Given the description of an element on the screen output the (x, y) to click on. 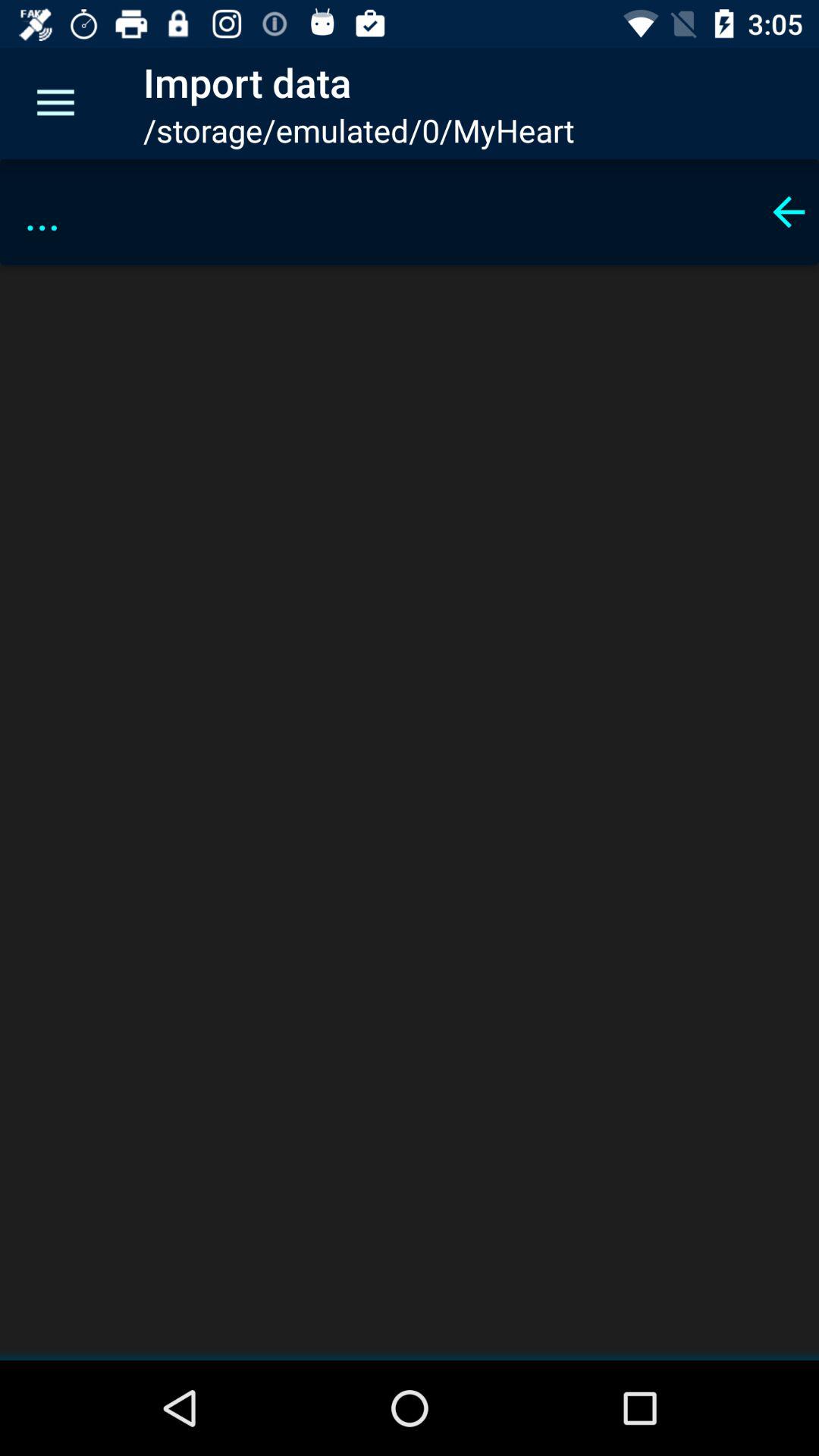
click ... item (385, 212)
